Given the description of an element on the screen output the (x, y) to click on. 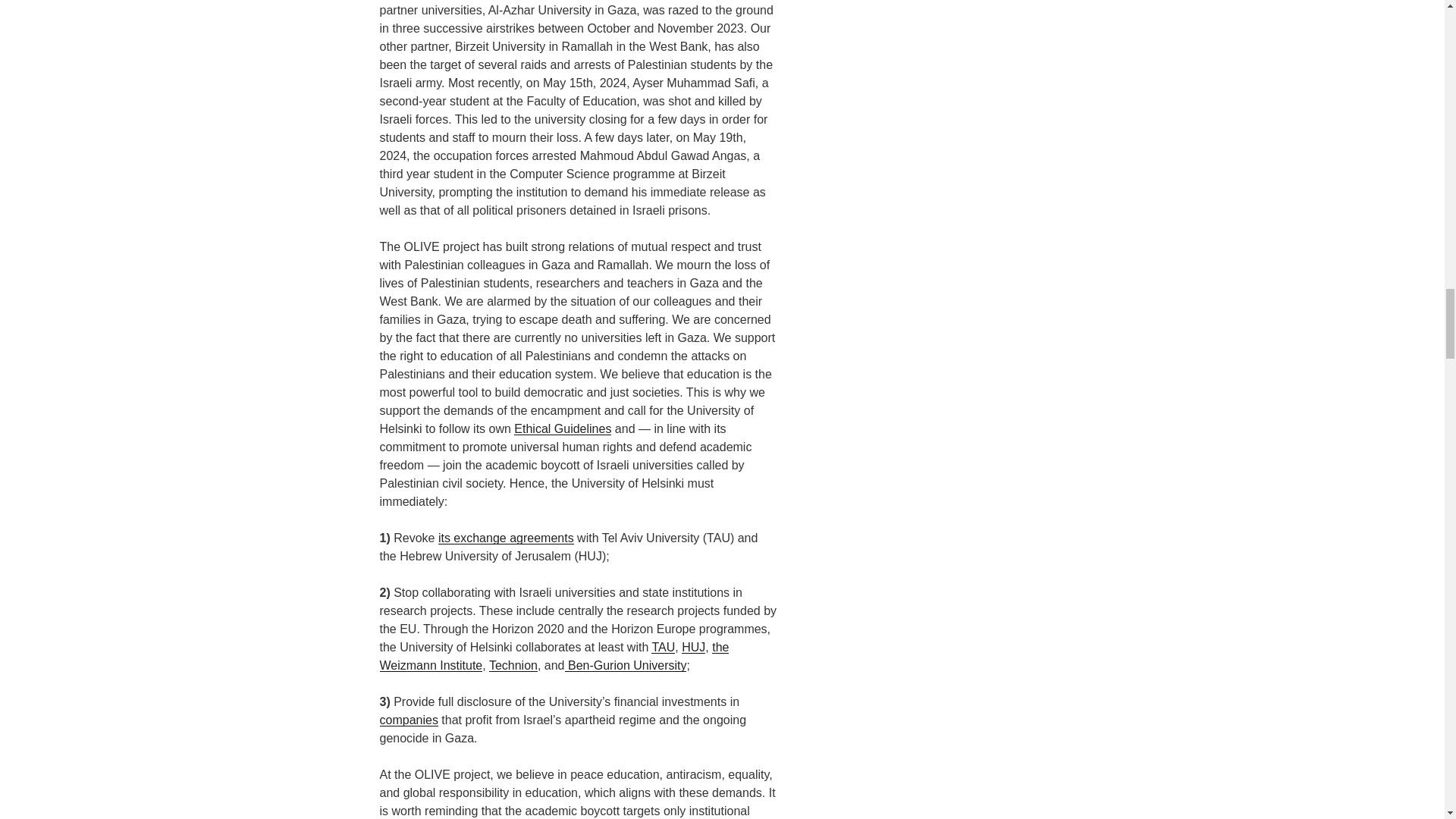
HUJ (692, 646)
its exchange agreements (505, 537)
Ben-Gurion University (625, 665)
companies (408, 719)
Technion (513, 665)
Ethical Guidelines (562, 428)
the Weizmann Institute (553, 655)
TAU (662, 646)
